Given the description of an element on the screen output the (x, y) to click on. 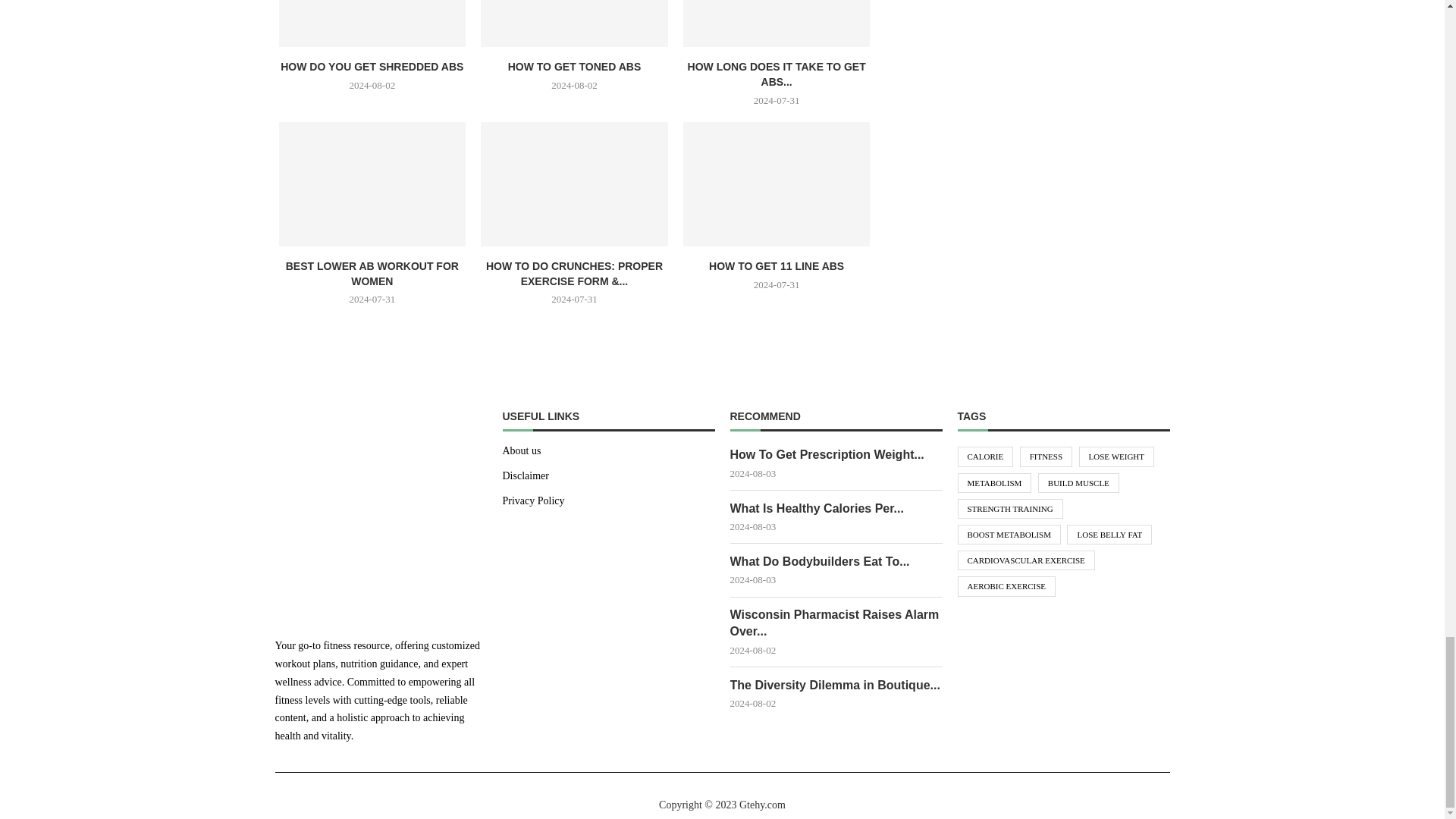
Best Lower Ab Workout For Women (372, 184)
How Long Does It Take To Get Abs Female (776, 23)
How To Get Toned Abs (574, 23)
How To Get 11 Line Abs (776, 184)
How Do You Get Shredded Abs (372, 23)
